Given the description of an element on the screen output the (x, y) to click on. 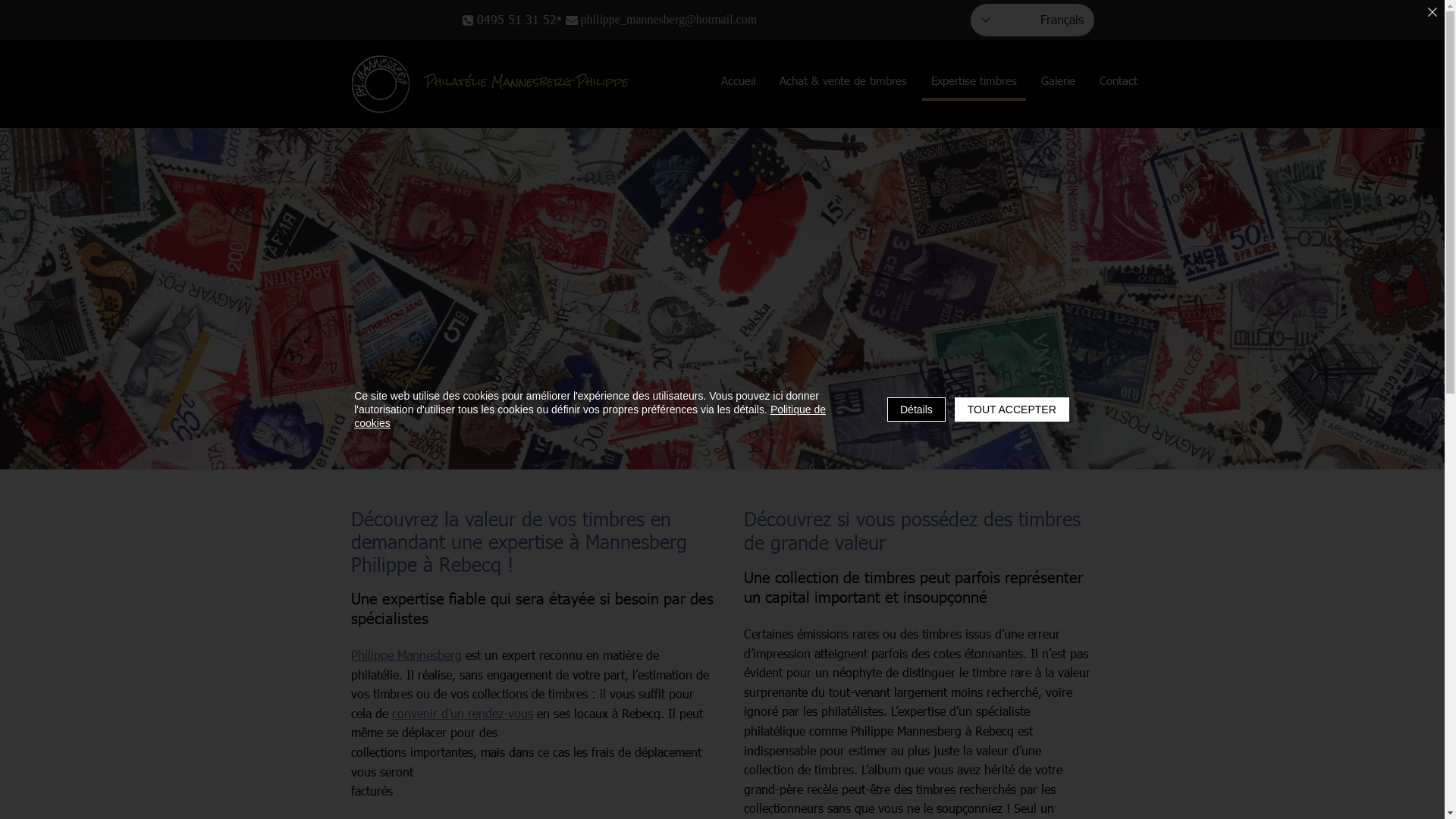
Expertise timbres Element type: text (974, 82)
Accueil Element type: text (737, 82)
TOUT ACCEPTER Element type: text (1011, 409)
Politique de cookies Element type: text (589, 416)
Galerie Element type: text (1057, 82)
0495 51 31 52 Element type: text (509, 19)
philippe_mannesberg@hotmail.com Element type: text (679, 19)
Mannesberg P Element type: hover (380, 83)
Philippe Mannesberg Element type: text (405, 654)
Achat & vente de timbres Element type: text (843, 82)
Contact Element type: text (1118, 82)
